Given the description of an element on the screen output the (x, y) to click on. 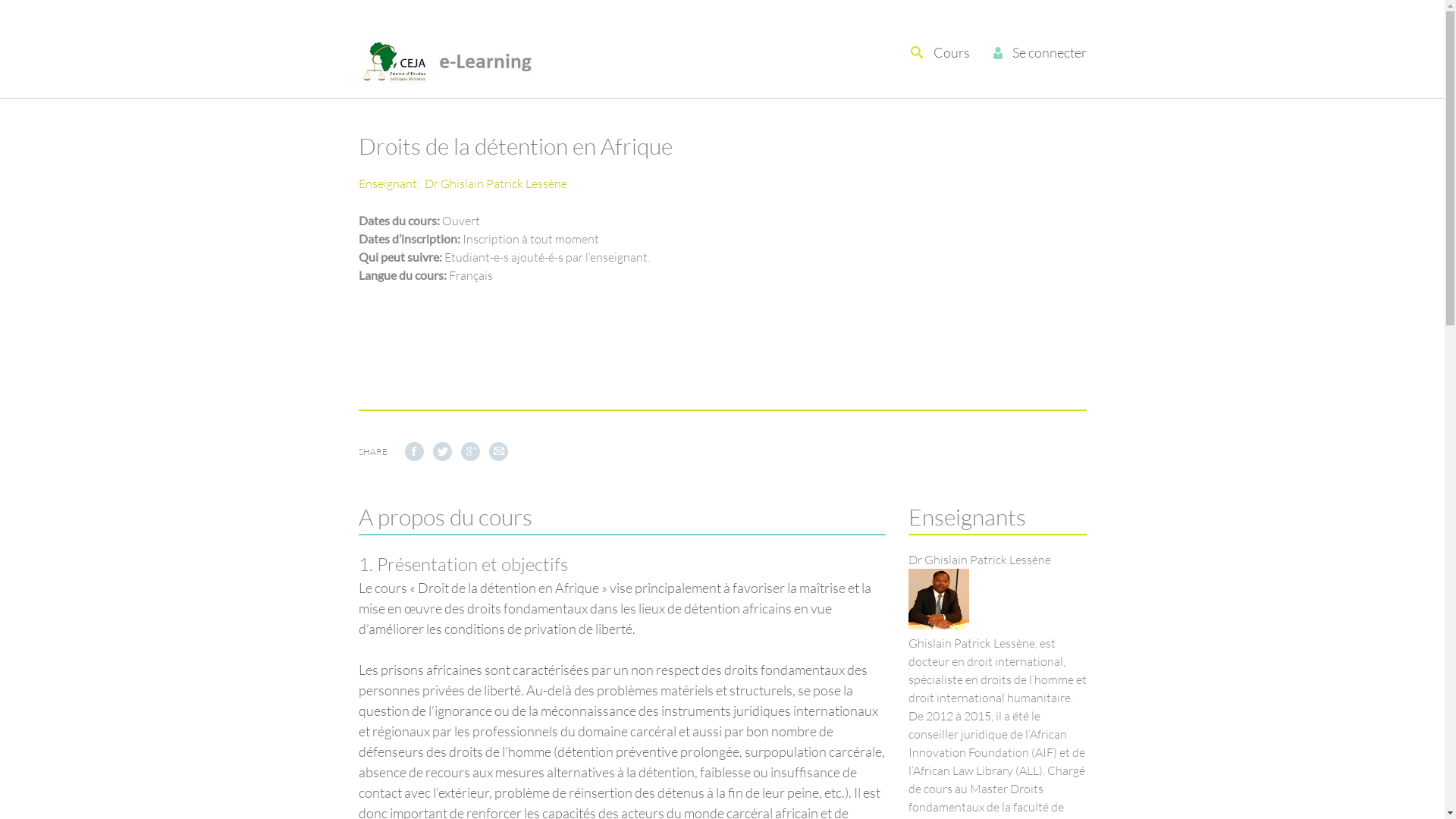
Se connecter Element type: text (1048, 52)
Cours Element type: text (950, 52)
Skip to content Element type: text (582, 52)
